Given the description of an element on the screen output the (x, y) to click on. 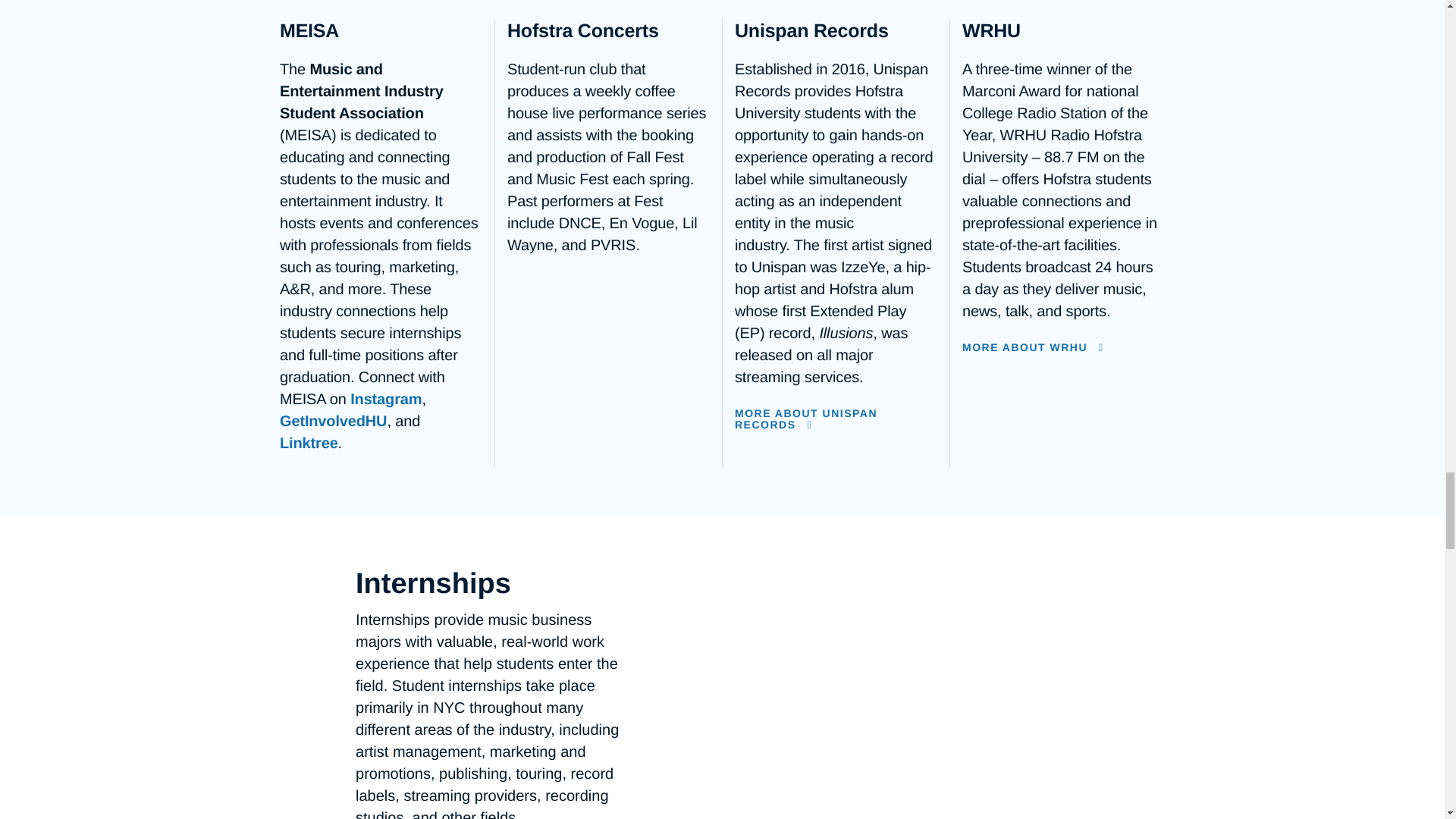
Linktree (308, 443)
MORE ABOUT WRHU (1063, 347)
GetInvolvedHU (333, 421)
MORE ABOUT UNISPAN RECORDS (836, 419)
Instagram (386, 399)
